Given the description of an element on the screen output the (x, y) to click on. 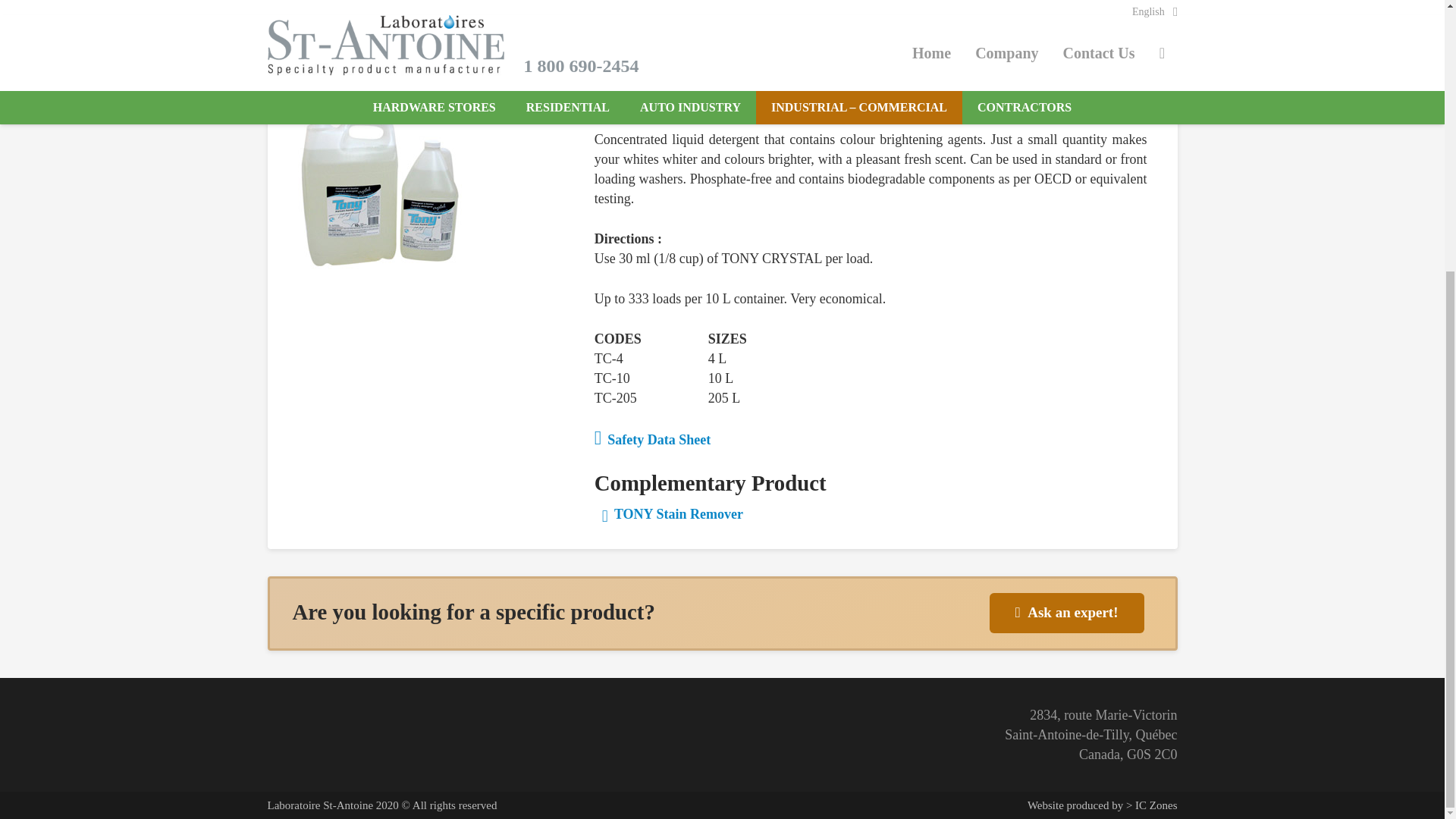
Safety Data Sheet (652, 439)
Contact Us (1067, 612)
Household products (539, 29)
Home (283, 29)
Ask an expert! (1067, 612)
TONY Stain Remover (672, 513)
